Given the description of an element on the screen output the (x, y) to click on. 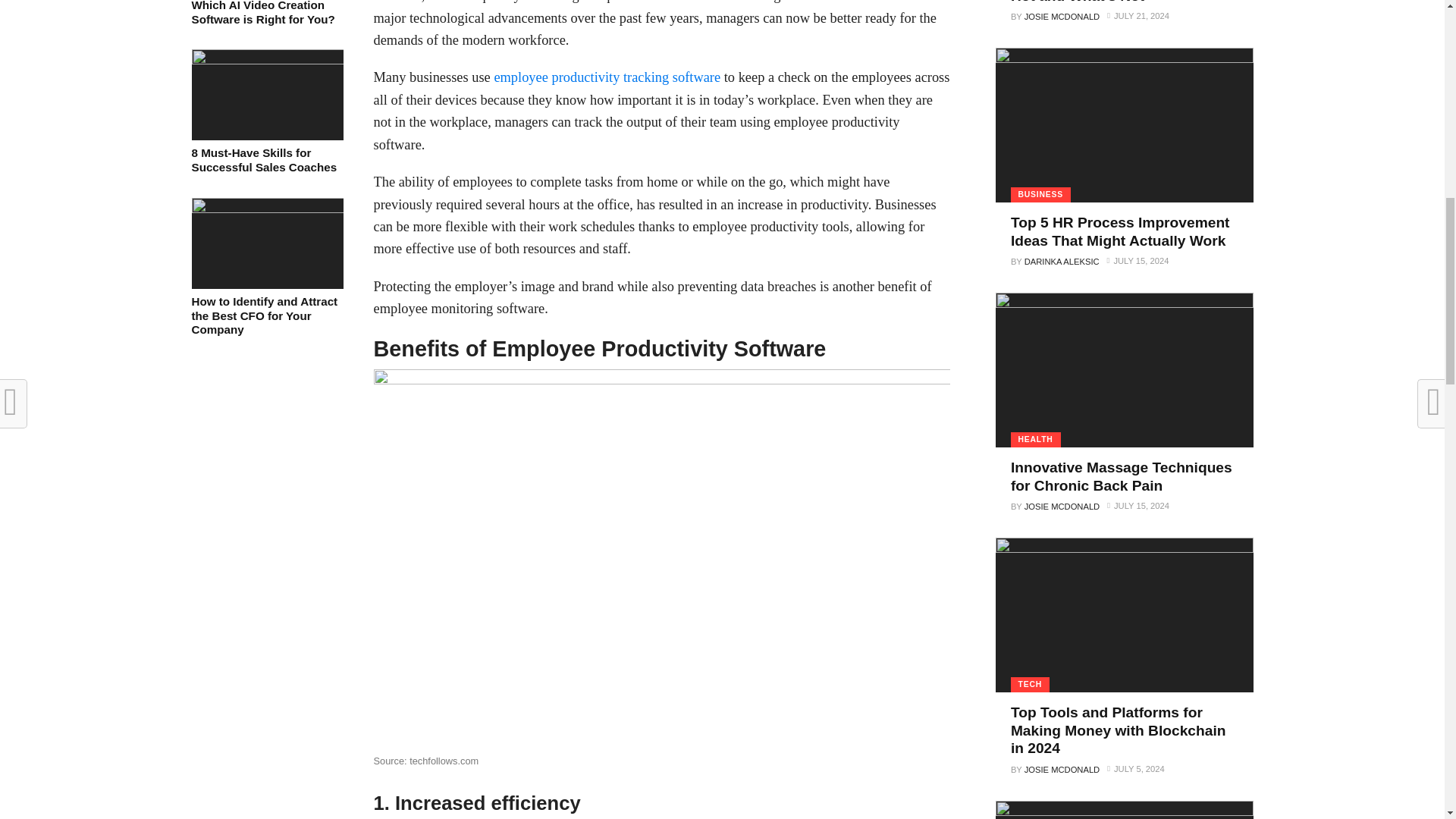
8 Must-Have Skills for Successful Sales Coaches (266, 60)
How to Identify and Attract the Best CFO for Your Company (266, 315)
Posts by Josie McDonald (1062, 16)
employee productivity tracking software (606, 77)
Which AI Video Creation Software is Right for You? (266, 13)
8 Must-Have Skills for Successful Sales Coaches (266, 160)
How to Identify and Attract the Best CFO for Your Company (266, 208)
